Given the description of an element on the screen output the (x, y) to click on. 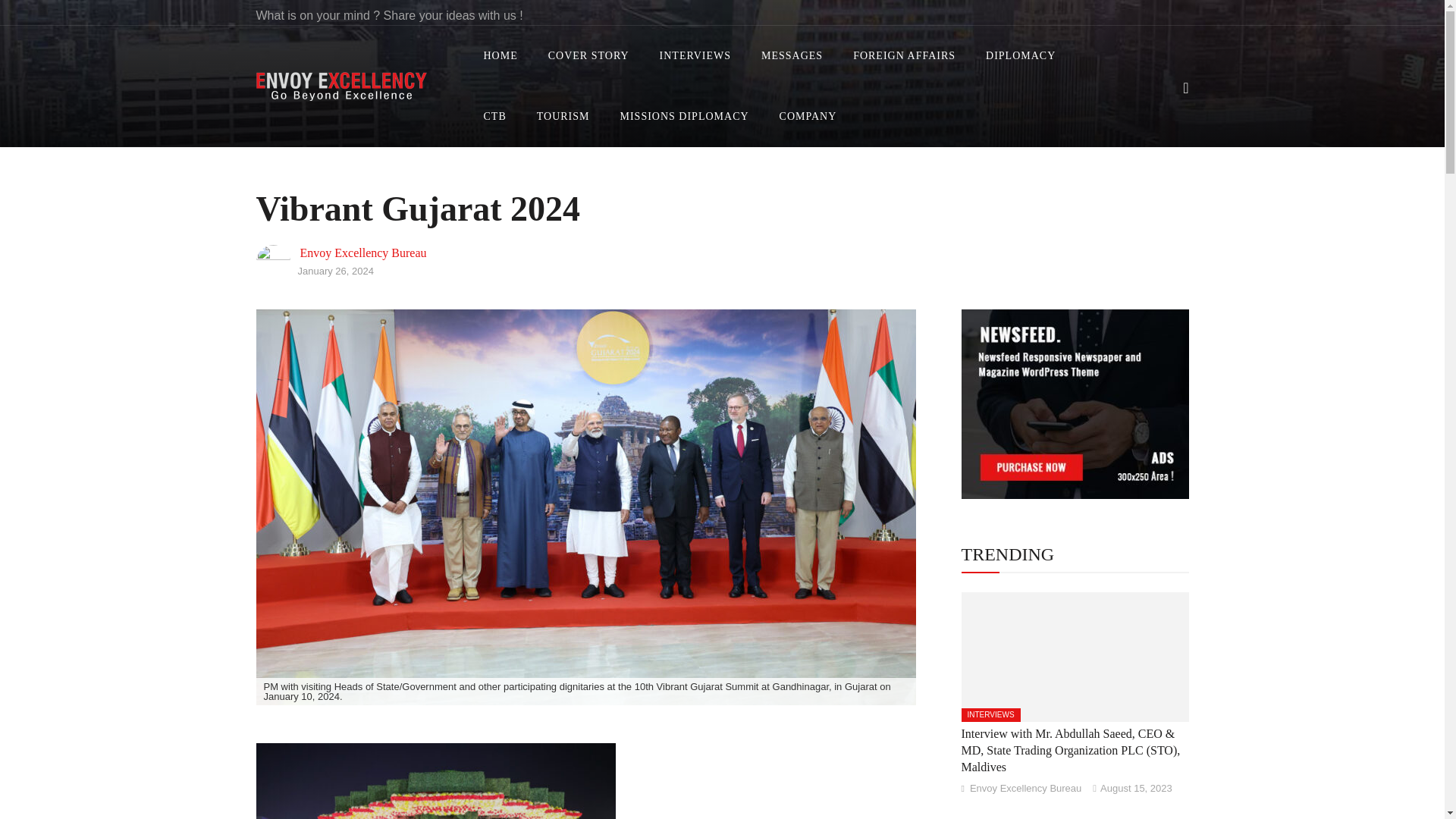
COVER STORY (588, 55)
January 26, 2024 (334, 270)
MISSIONS DIPLOMACY (684, 116)
HOME (500, 55)
TOURISM (563, 116)
What is on your mind ? Share your ideas with us ! (389, 15)
FOREIGN AFFAIRS (904, 55)
MESSAGES (791, 55)
INTERVIEWS (695, 55)
DIPLOMACY (1020, 55)
Envoy Excellency Bureau (362, 252)
COMPANY (807, 116)
